Given the description of an element on the screen output the (x, y) to click on. 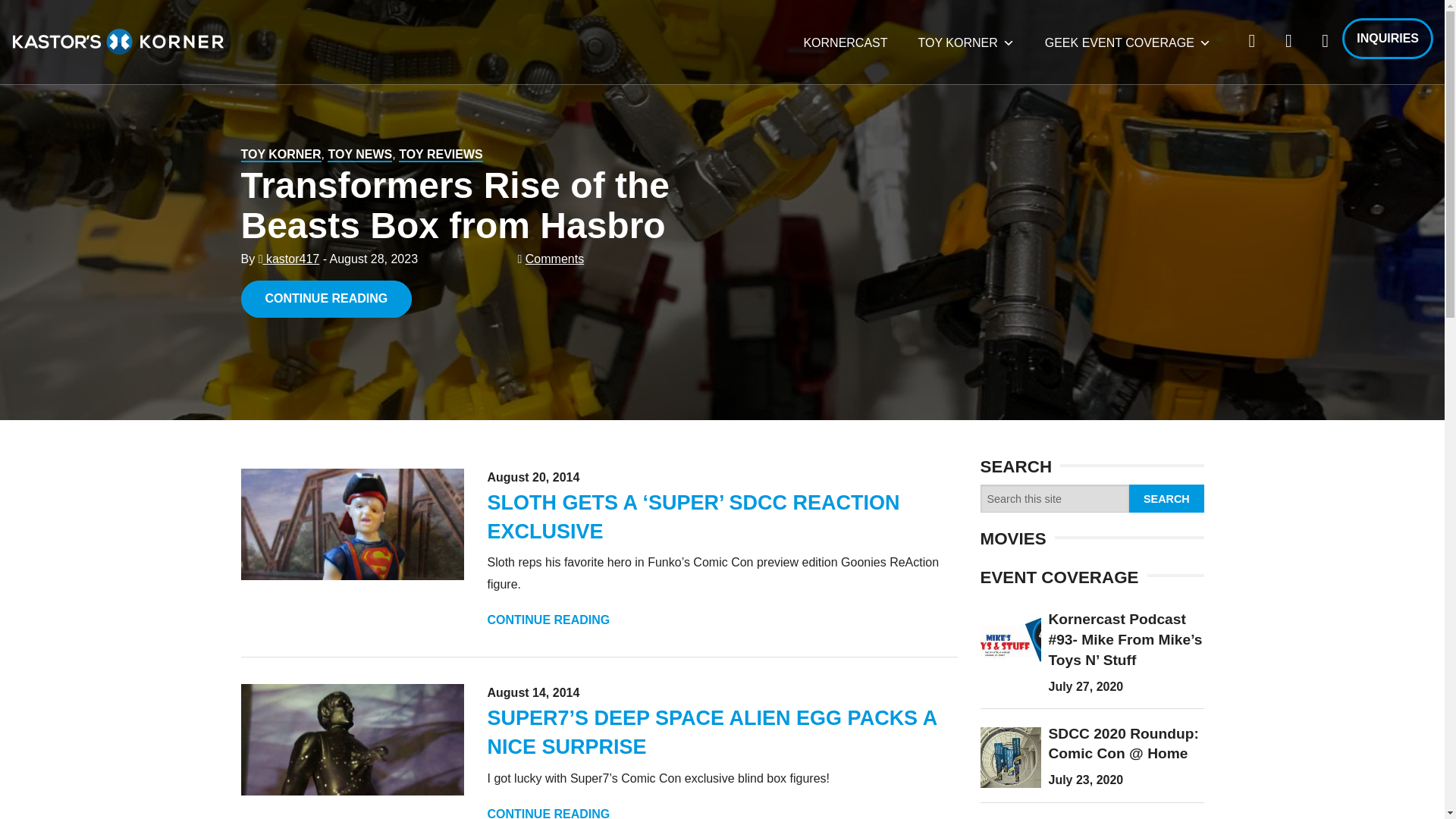
KORNERCAST (844, 42)
TOY NEWS (359, 155)
Comments (554, 258)
TOY KORNER (965, 42)
INQUIRIES (1387, 38)
CONTINUE READING (326, 298)
GEEK EVENT COVERAGE (1127, 42)
TOY REVIEWS (440, 155)
kastor417 (289, 258)
CONTINUE READING (548, 813)
Search (1166, 498)
TOY KORNER (281, 155)
Kastors Korner (117, 41)
CONTINUE READING (548, 619)
